Given the description of an element on the screen output the (x, y) to click on. 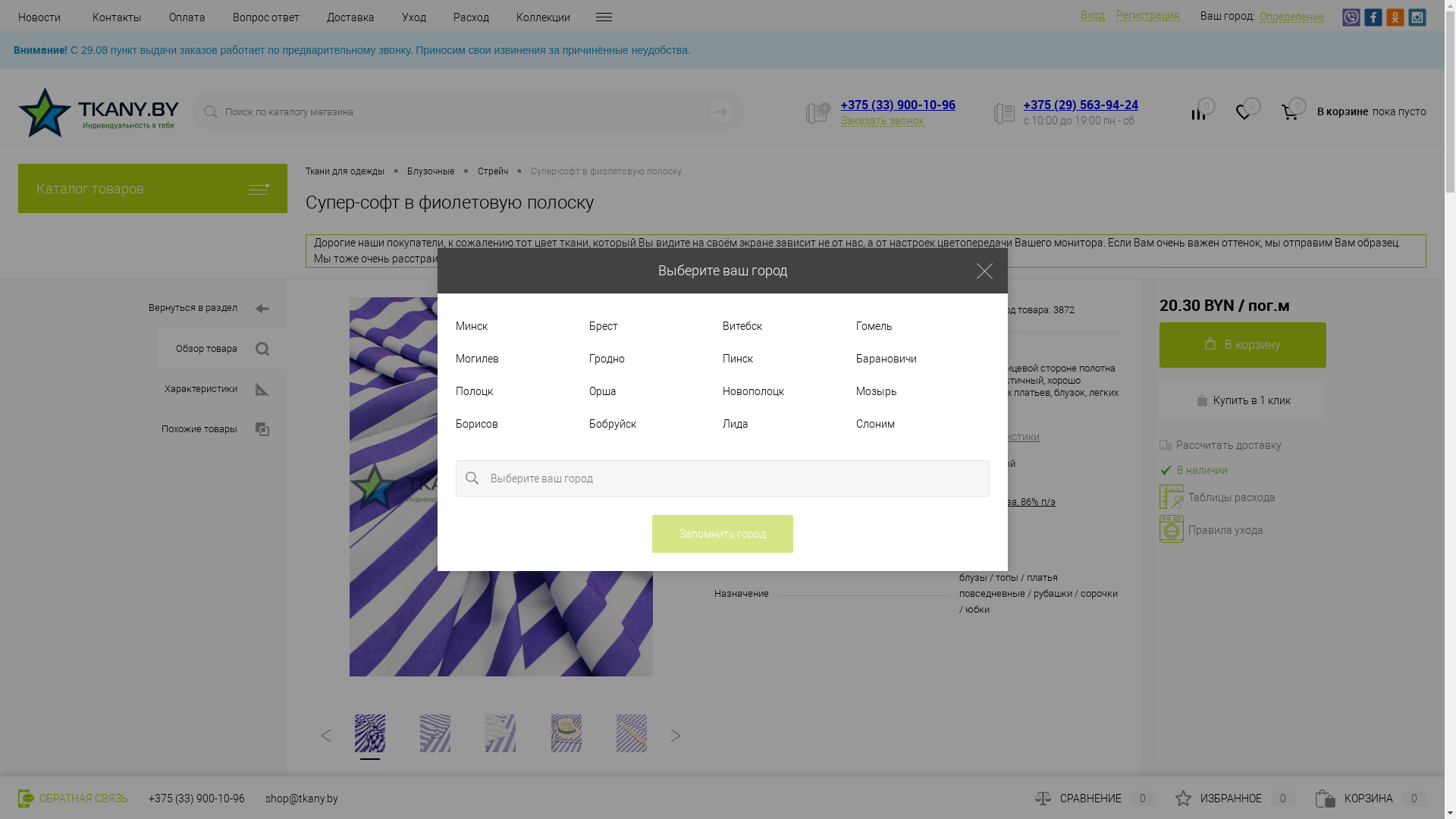
+375 (33) 900-10-96 Element type: text (196, 798)
+375 (29) 563-94-24 Element type: text (1080, 104)
+375 (33) 900-10-96 Element type: text (897, 104)
Y Element type: text (721, 111)
shop@tkany.by Element type: text (301, 798)
0 Element type: text (1198, 114)
0 Element type: text (1244, 114)
0 Element type: text (1289, 112)
